Given the description of an element on the screen output the (x, y) to click on. 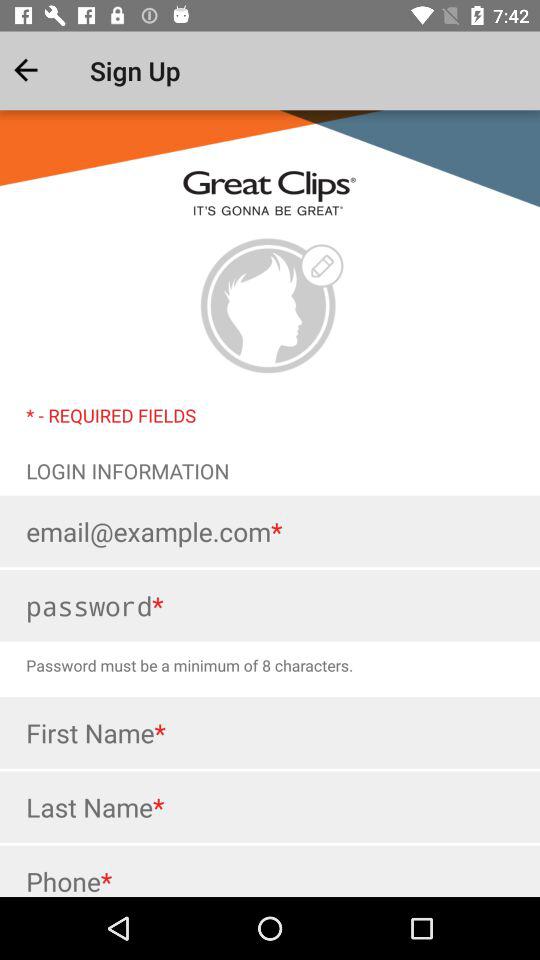
enter your last name (269, 807)
